Given the description of an element on the screen output the (x, y) to click on. 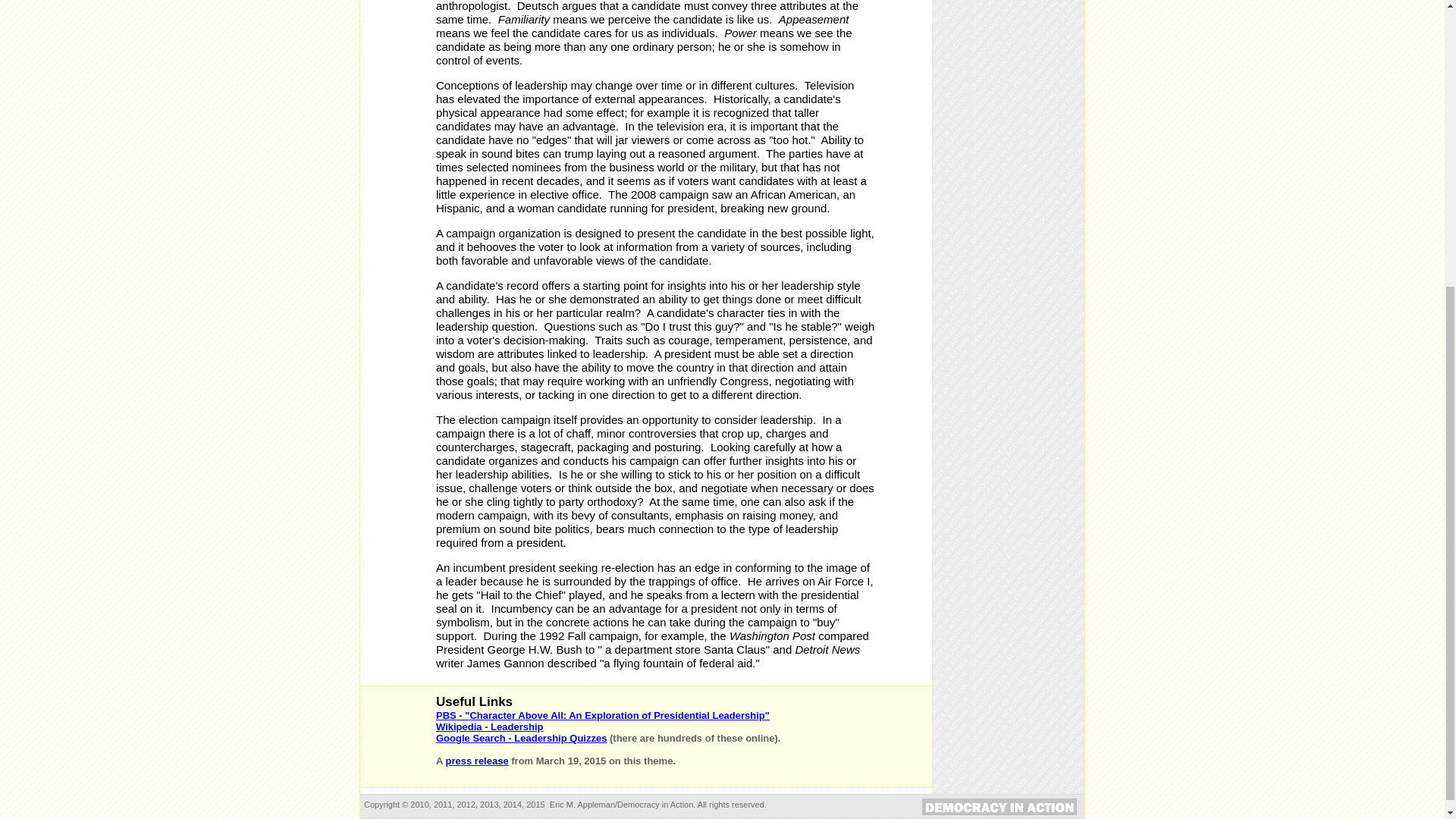
Google Search - Leadership Quizzes (521, 737)
press release (476, 760)
Wikipedia - Leadership (489, 726)
